Given the description of an element on the screen output the (x, y) to click on. 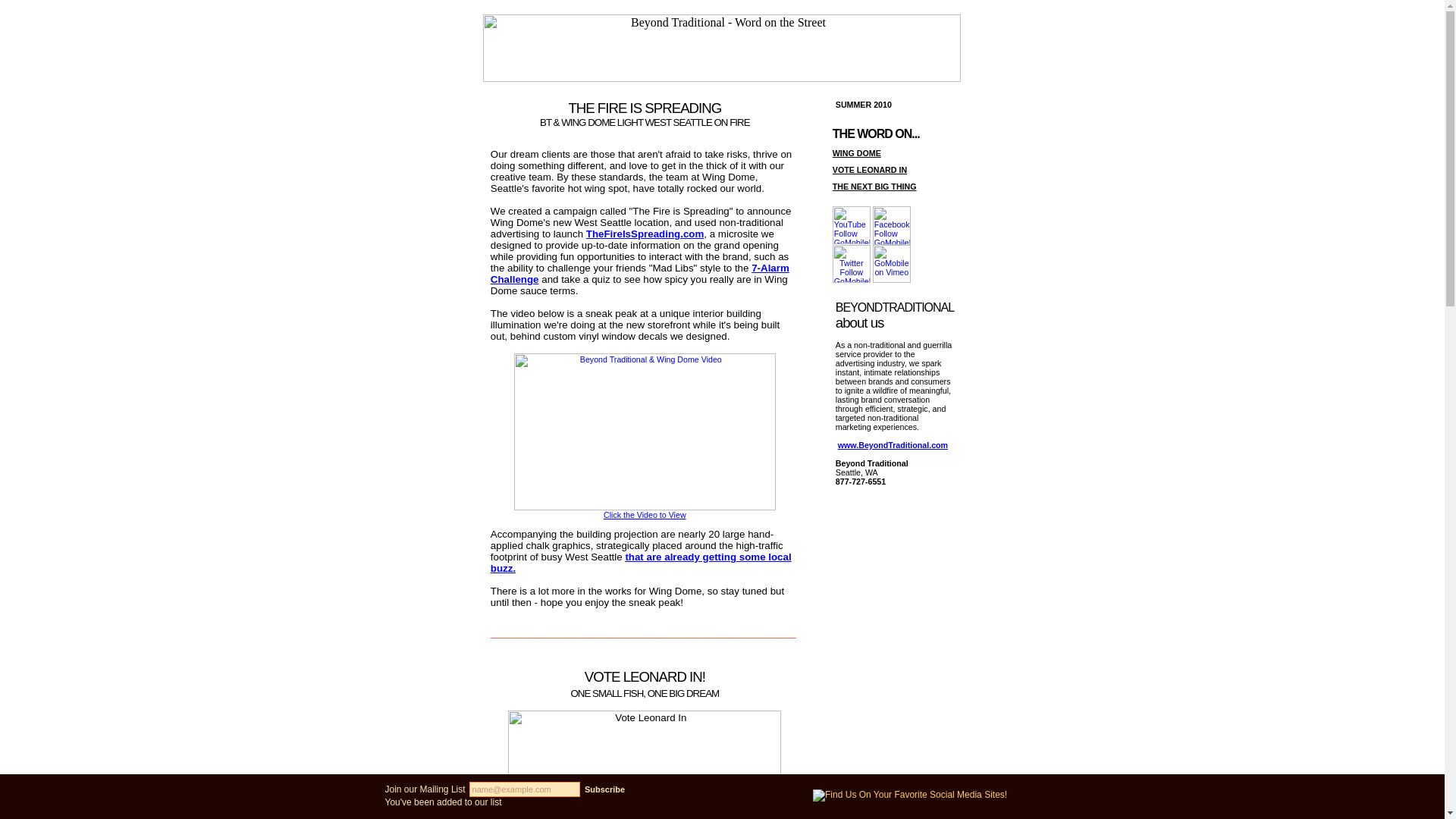
THE NEXT BIG THING (874, 185)
www.BeyondTraditional.com (892, 444)
Edit Image (891, 263)
Edit Image (891, 225)
VOTE LEONARD IN (869, 169)
7-Alarm Challenge (639, 273)
Subscribe (604, 789)
WING DOME (856, 153)
TheFireIsSpreading.com (645, 233)
Subscribe (604, 789)
Click the Video to View (644, 514)
Edit Image (851, 263)
Edit Image (851, 225)
Edit Image (644, 431)
that are already getting some local buzz. (641, 562)
